Given the description of an element on the screen output the (x, y) to click on. 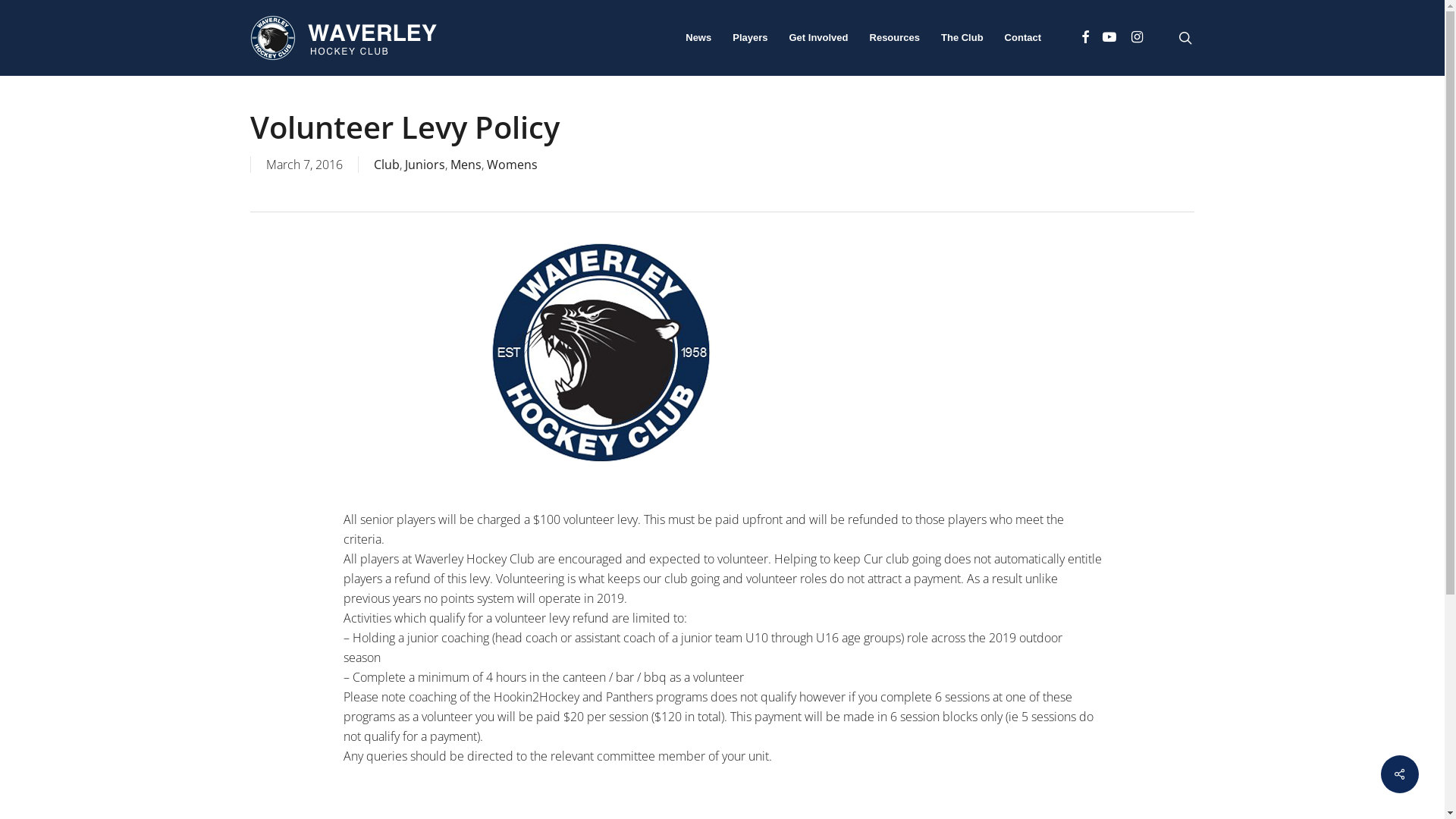
Juniors Element type: text (424, 164)
Get Involved Element type: text (817, 37)
Players Element type: text (749, 37)
News Element type: text (698, 37)
Club Element type: text (386, 164)
Resources Element type: text (894, 37)
Instagram Element type: text (1136, 37)
Mens Element type: text (465, 164)
Contact Element type: text (1022, 37)
Womens Element type: text (511, 164)
search Element type: text (1185, 37)
Youtube Element type: text (1109, 37)
Facebook Element type: text (1084, 37)
The Club Element type: text (962, 37)
